Given the description of an element on the screen output the (x, y) to click on. 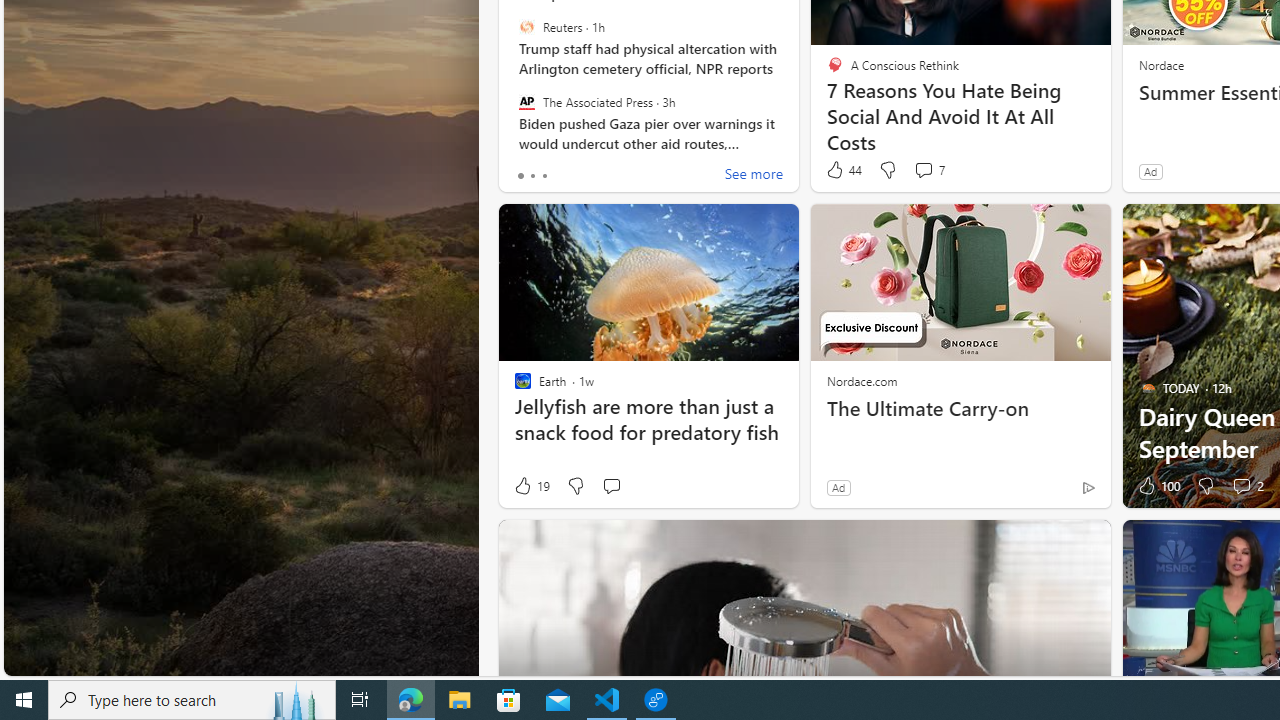
Start the conversation (610, 485)
The Ultimate Carry-on (959, 408)
tab-2 (543, 175)
tab-1 (532, 175)
View comments 7 Comment (928, 170)
Reuters (526, 27)
tab-0 (520, 175)
19 Like (531, 485)
Dislike (1204, 485)
44 Like (843, 170)
View comments 7 Comment (923, 169)
Nordace (1160, 64)
Ad (838, 487)
